Given the description of an element on the screen output the (x, y) to click on. 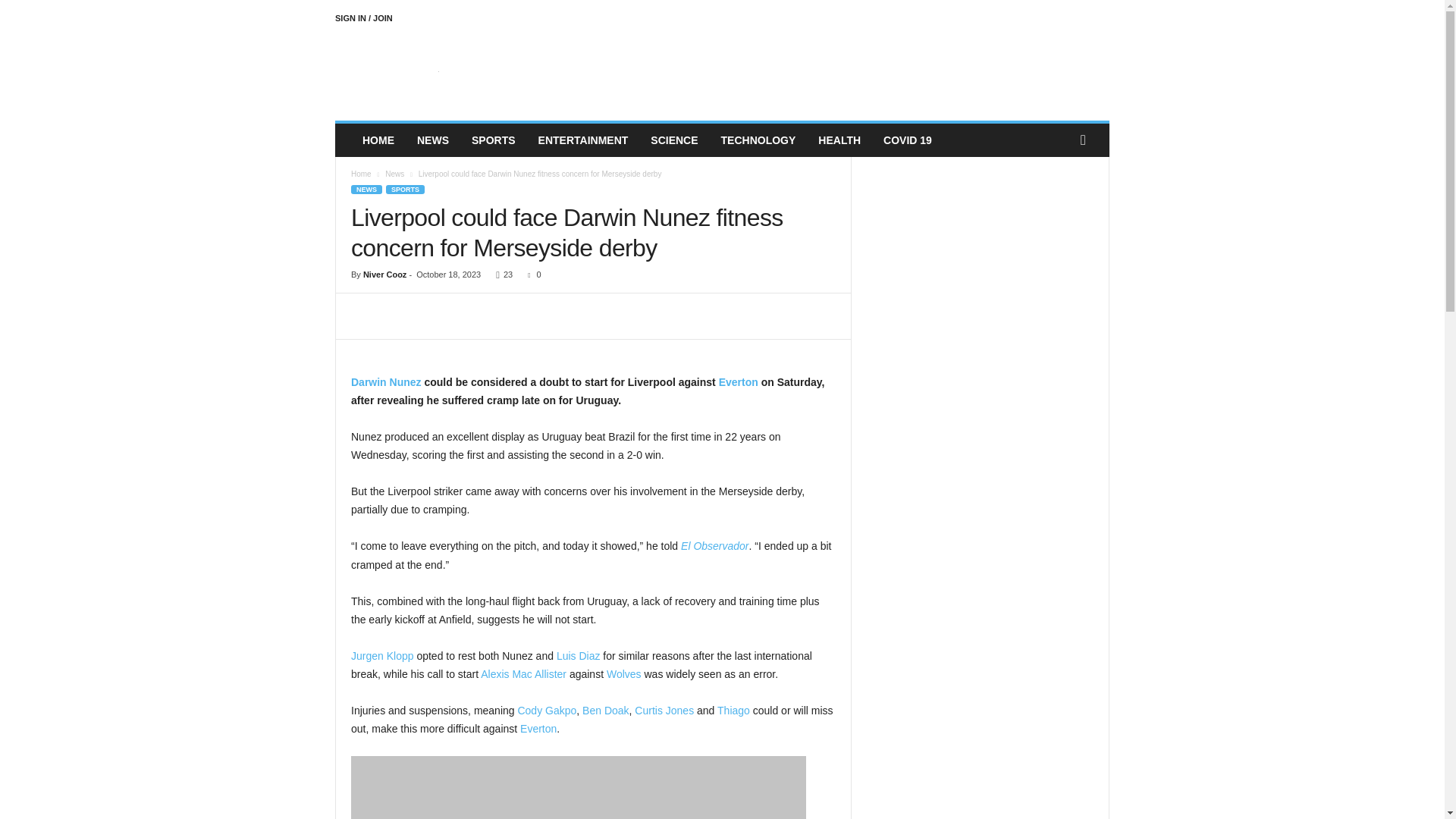
Cody Gakpo (546, 710)
HEALTH (839, 140)
TECHNOLOGY (759, 140)
Niver Cooz (384, 274)
SPORTS (493, 140)
COVID 19 (907, 140)
SPORTS (405, 189)
Home (360, 173)
Curtis Jones (664, 710)
SCIENCE (674, 140)
